Given the description of an element on the screen output the (x, y) to click on. 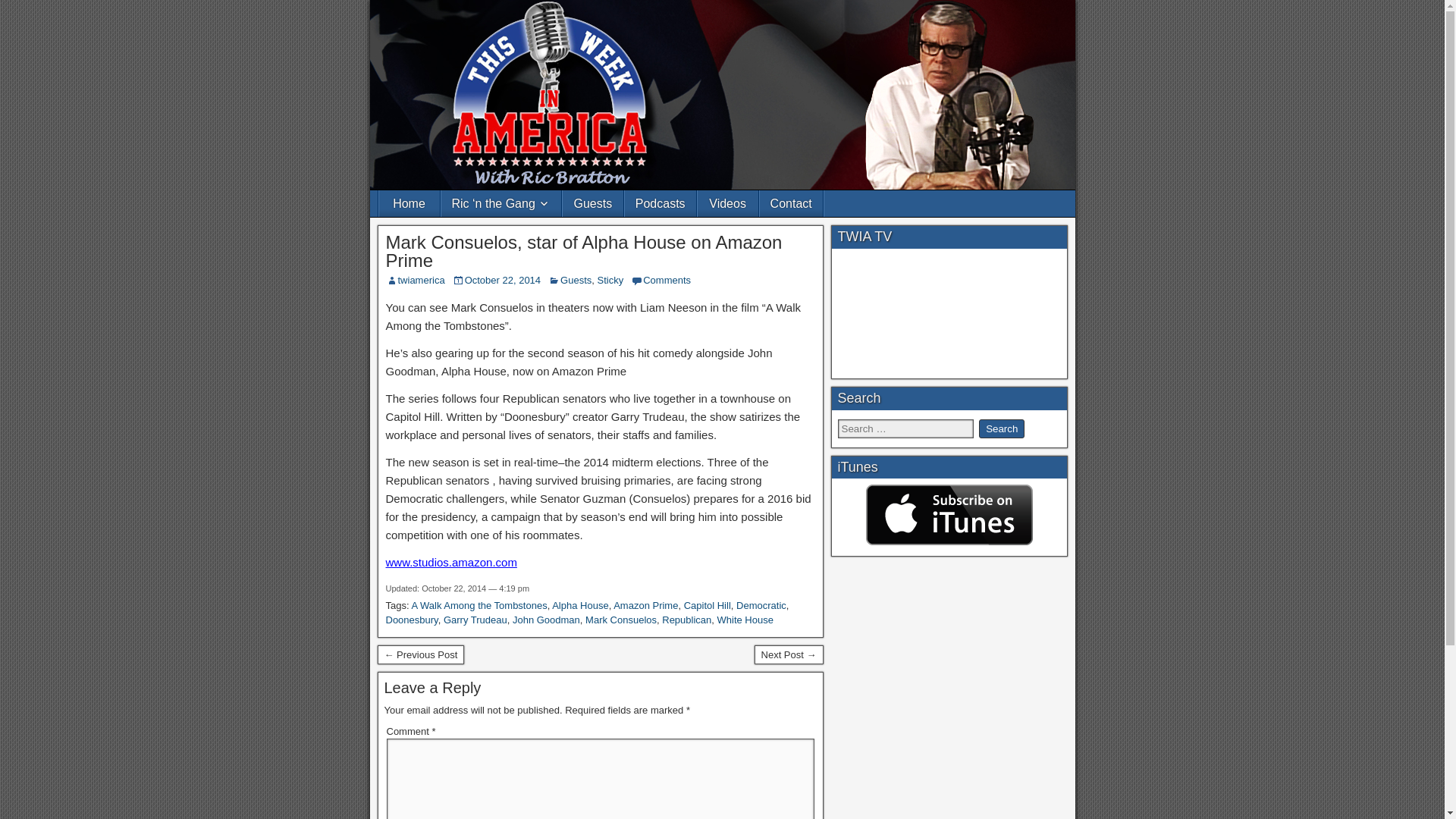
Republican (686, 619)
Mark Consuelos, star of Alpha House on Amazon Prime (583, 251)
Podcasts (659, 203)
www.studios.amazon.com (450, 562)
Videos (727, 203)
October 22, 2014 (502, 279)
Capitol Hill (707, 604)
Mark Consuelos (620, 619)
Doonesbury (411, 619)
